Given the description of an element on the screen output the (x, y) to click on. 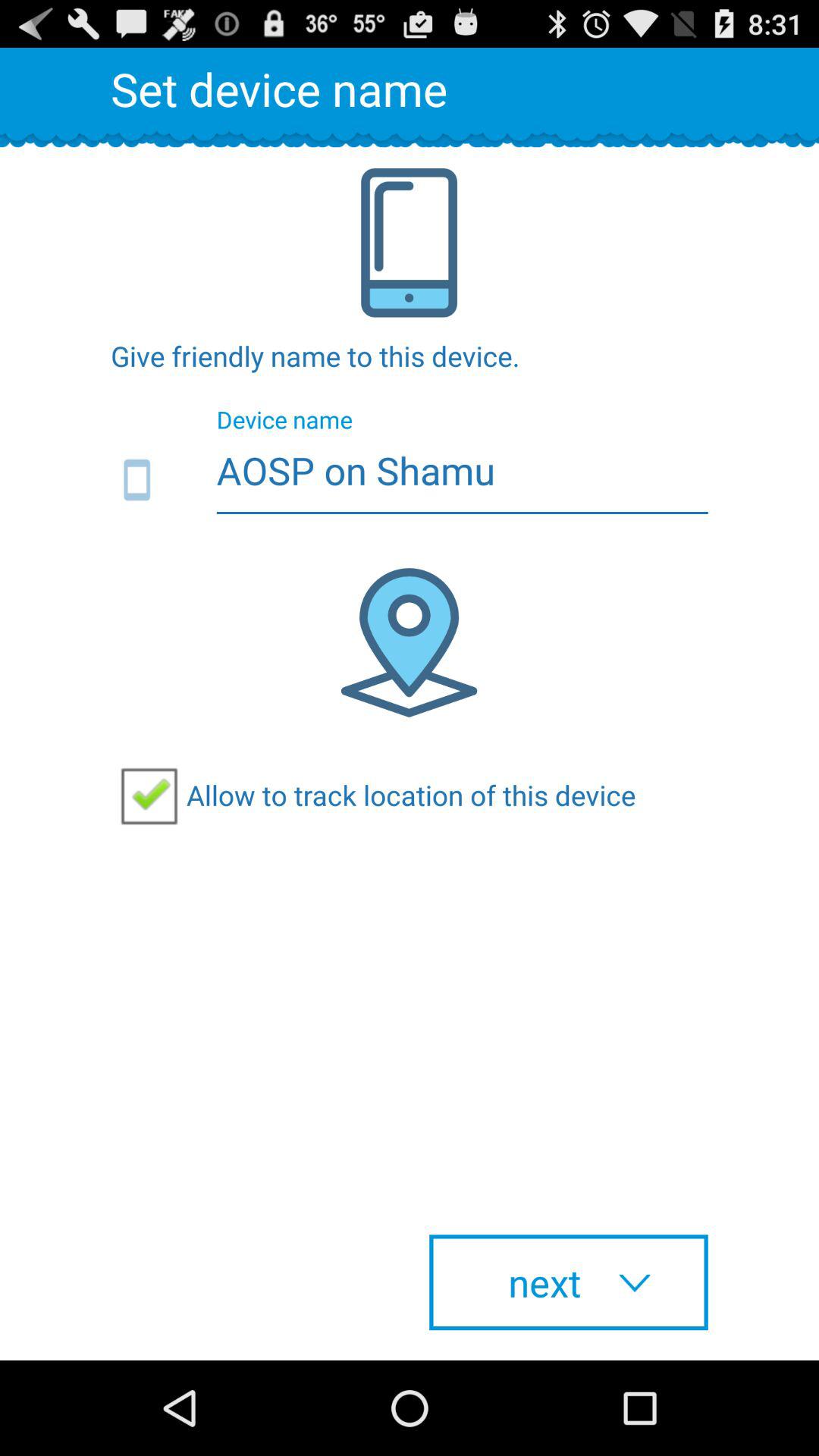
press next at the bottom right corner (568, 1282)
